Given the description of an element on the screen output the (x, y) to click on. 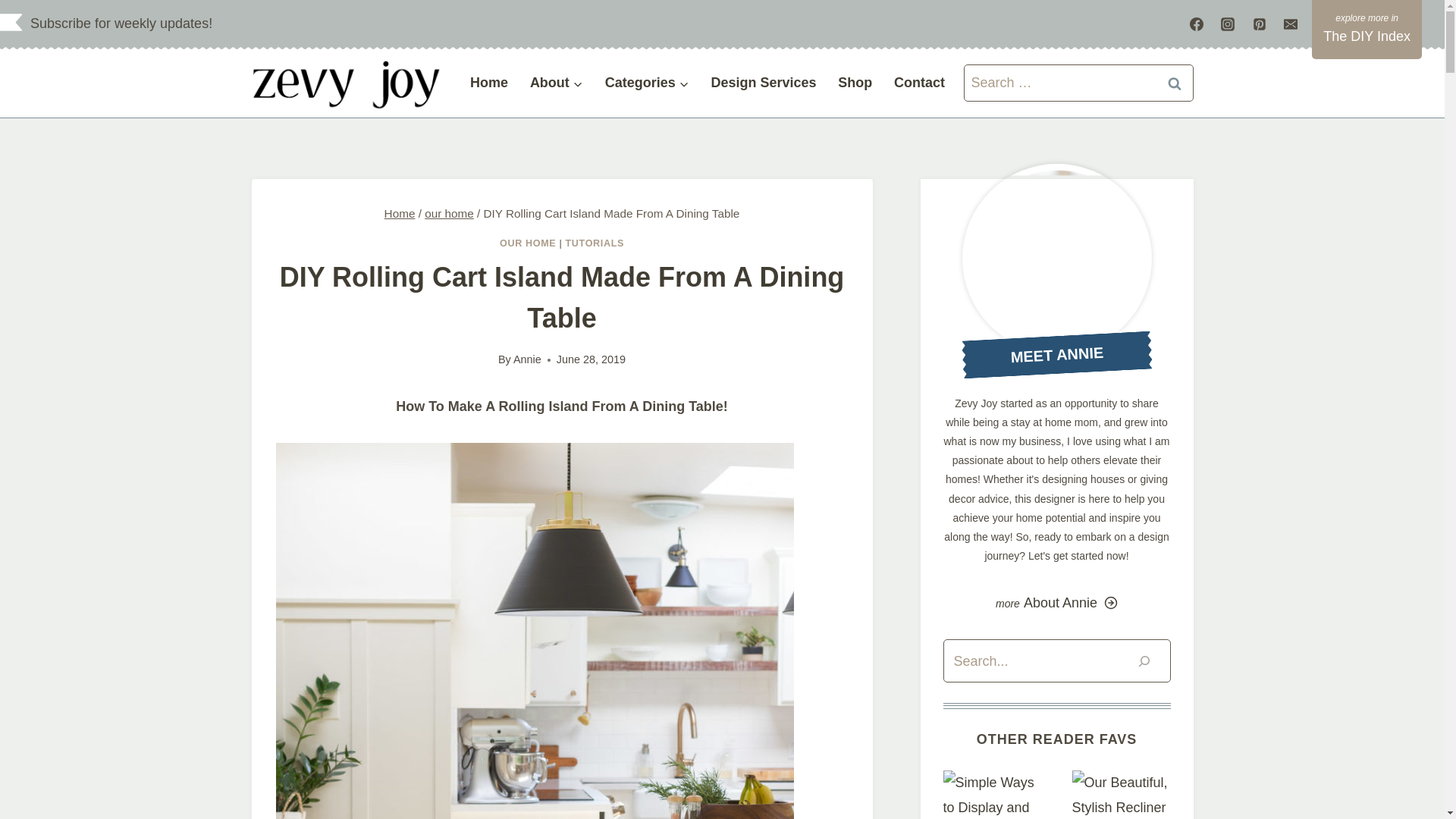
OUR HOME (527, 243)
our home (449, 213)
TUTORIALS (594, 243)
Search (1174, 82)
Shop (855, 83)
Categories (647, 83)
Search (1174, 82)
Home (489, 83)
About (556, 83)
Search (1174, 82)
